Given the description of an element on the screen output the (x, y) to click on. 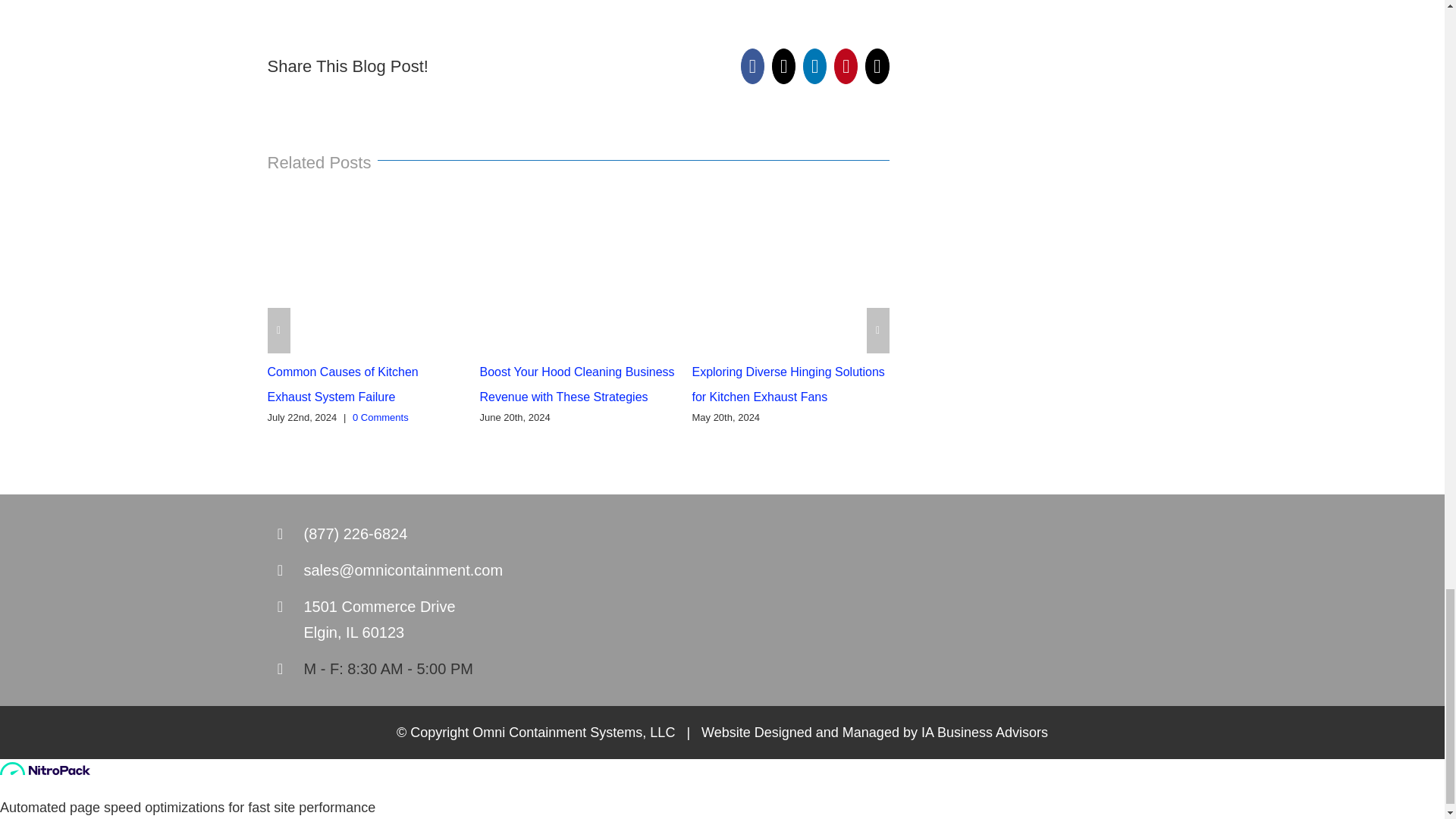
Exploring Diverse Hinging Solutions for Kitchen Exhaust Fans (787, 384)
0 Comments (380, 417)
Exploring Diverse Hinging Solutions for Kitchen Exhaust Fans (787, 384)
Common Causes of Kitchen Exhaust System Failure (341, 384)
Common Causes of Kitchen Exhaust System Failure (341, 384)
